Given the description of an element on the screen output the (x, y) to click on. 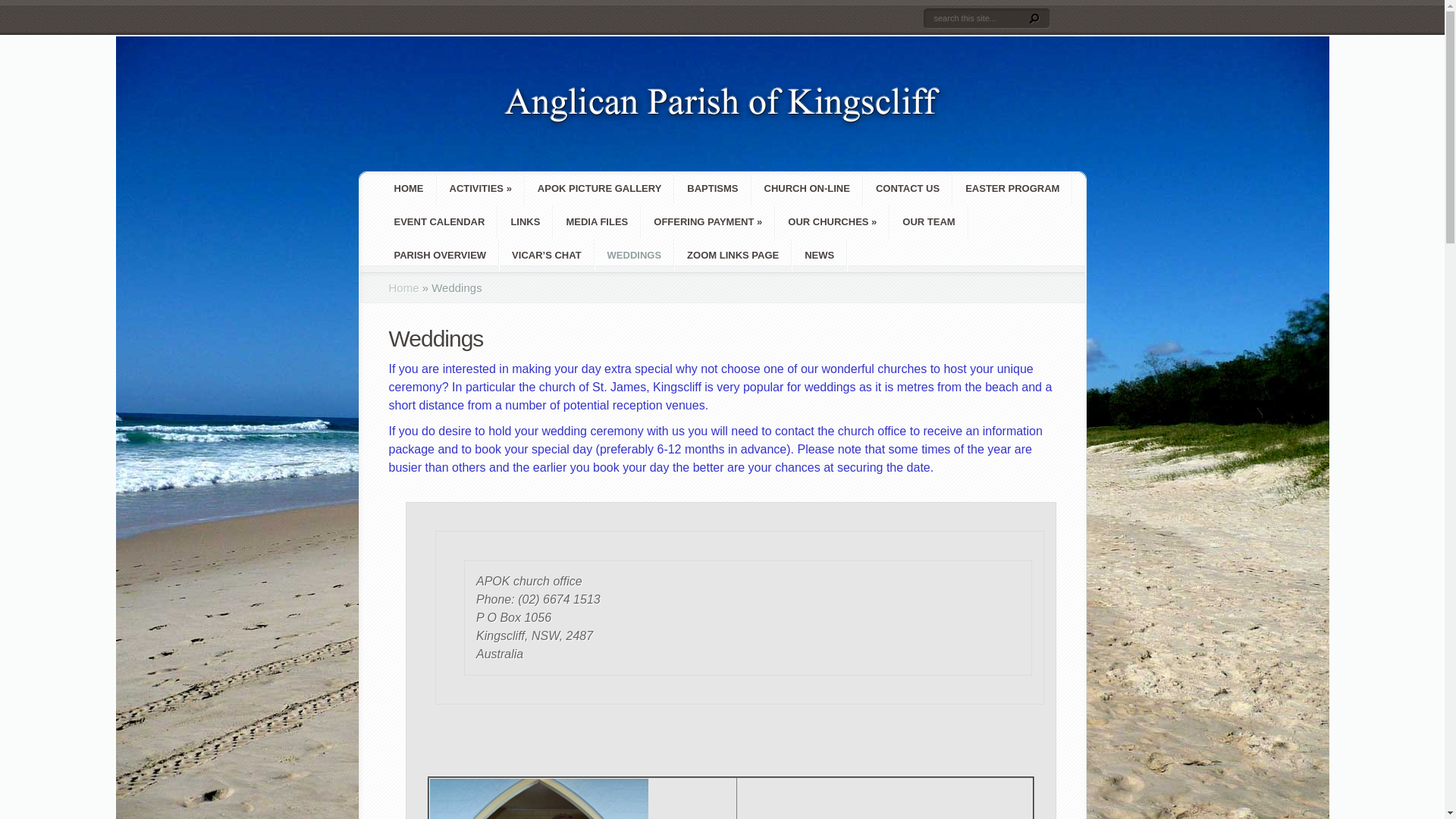
HOME Element type: text (409, 188)
CONTACT US Element type: text (907, 188)
BAPTISMS Element type: text (711, 188)
WEDDINGS Element type: text (634, 255)
APOK PICTURE GALLERY Element type: text (599, 188)
ZOOM LINKS PAGE Element type: text (732, 255)
EVENT CALENDAR Element type: text (439, 221)
CHURCH ON-LINE Element type: text (807, 188)
PARISH OVERVIEW Element type: text (440, 255)
EASTER PROGRAM Element type: text (1012, 188)
OUR TEAM Element type: text (928, 221)
MEDIA FILES Element type: text (596, 221)
LINKS Element type: text (525, 221)
NEWS Element type: text (819, 255)
Home Element type: text (403, 287)
